Given the description of an element on the screen output the (x, y) to click on. 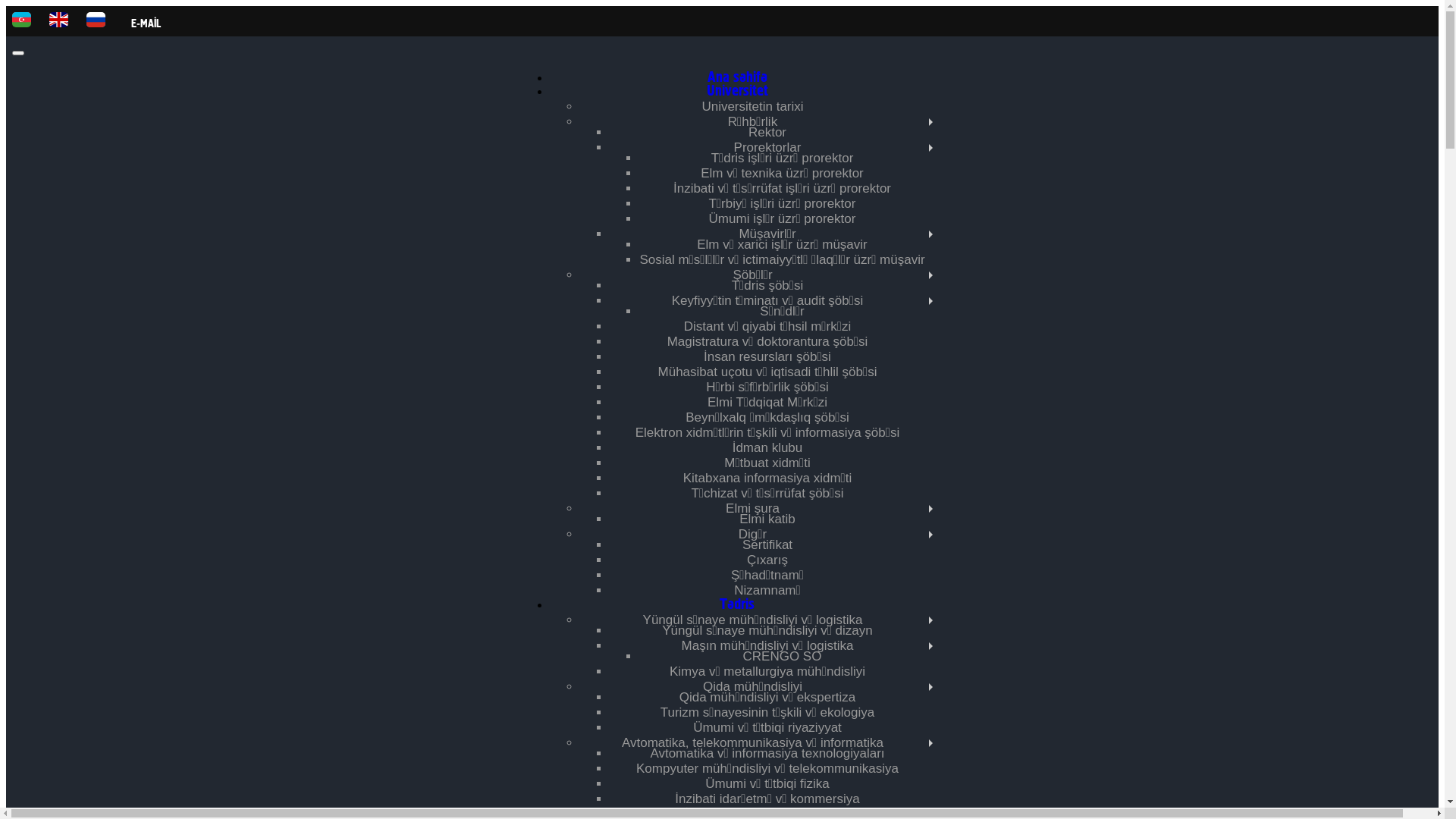
Sertifikat Element type: text (767, 544)
Universitet Element type: text (737, 90)
Universitetin tarixi Element type: text (752, 106)
Elmi katib Element type: text (767, 518)
CRENGO SO Element type: text (782, 656)
Prorektorlar Element type: text (767, 147)
Rektor Element type: text (767, 132)
